Given the description of an element on the screen output the (x, y) to click on. 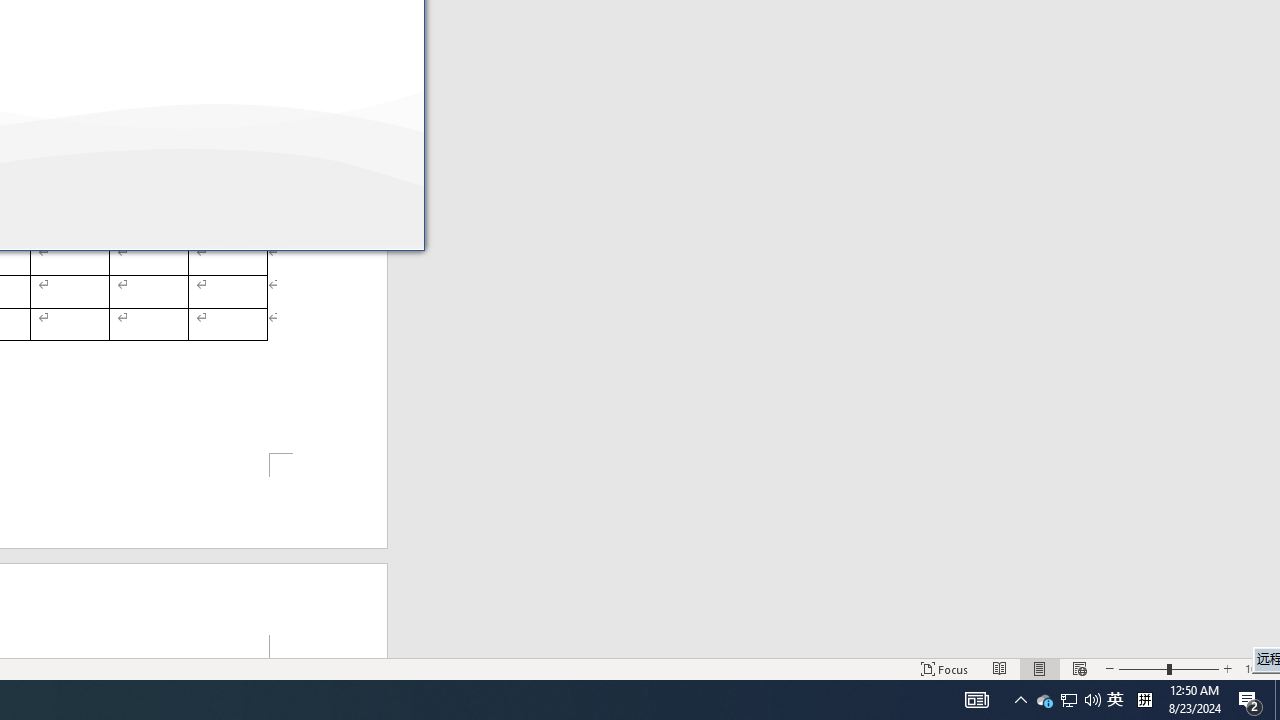
Tray Input Indicator - Chinese (Simplified, China) (1044, 699)
User Promoted Notification Area (1144, 699)
Notification Chevron (1068, 699)
Q2790: 100% (1020, 699)
Show desktop (1115, 699)
Zoom 100% (1092, 699)
